Given the description of an element on the screen output the (x, y) to click on. 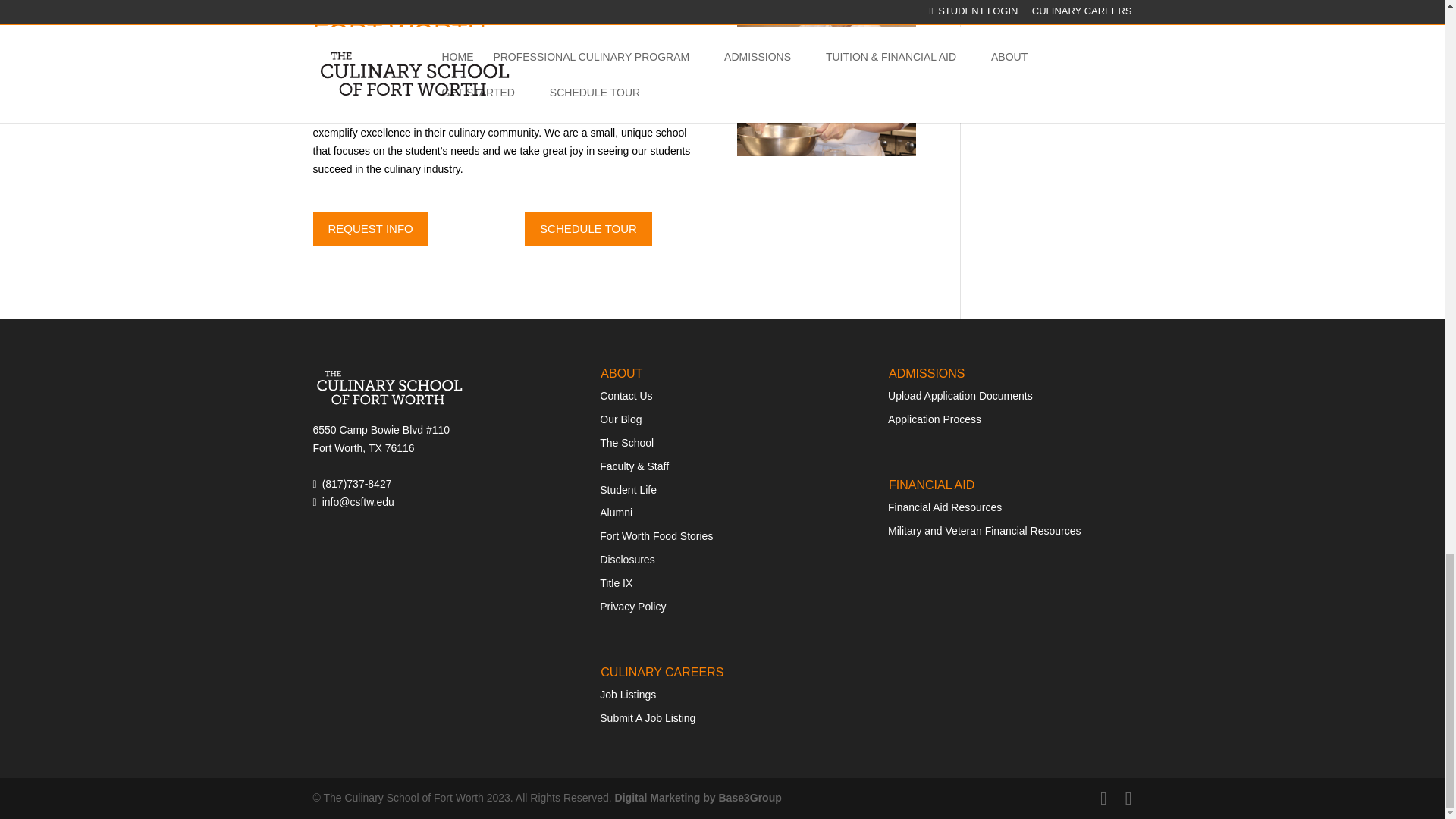
Digital Marketing by Base3Group (697, 797)
Alumni Spotlight: Joe Howard (825, 78)
